Given the description of an element on the screen output the (x, y) to click on. 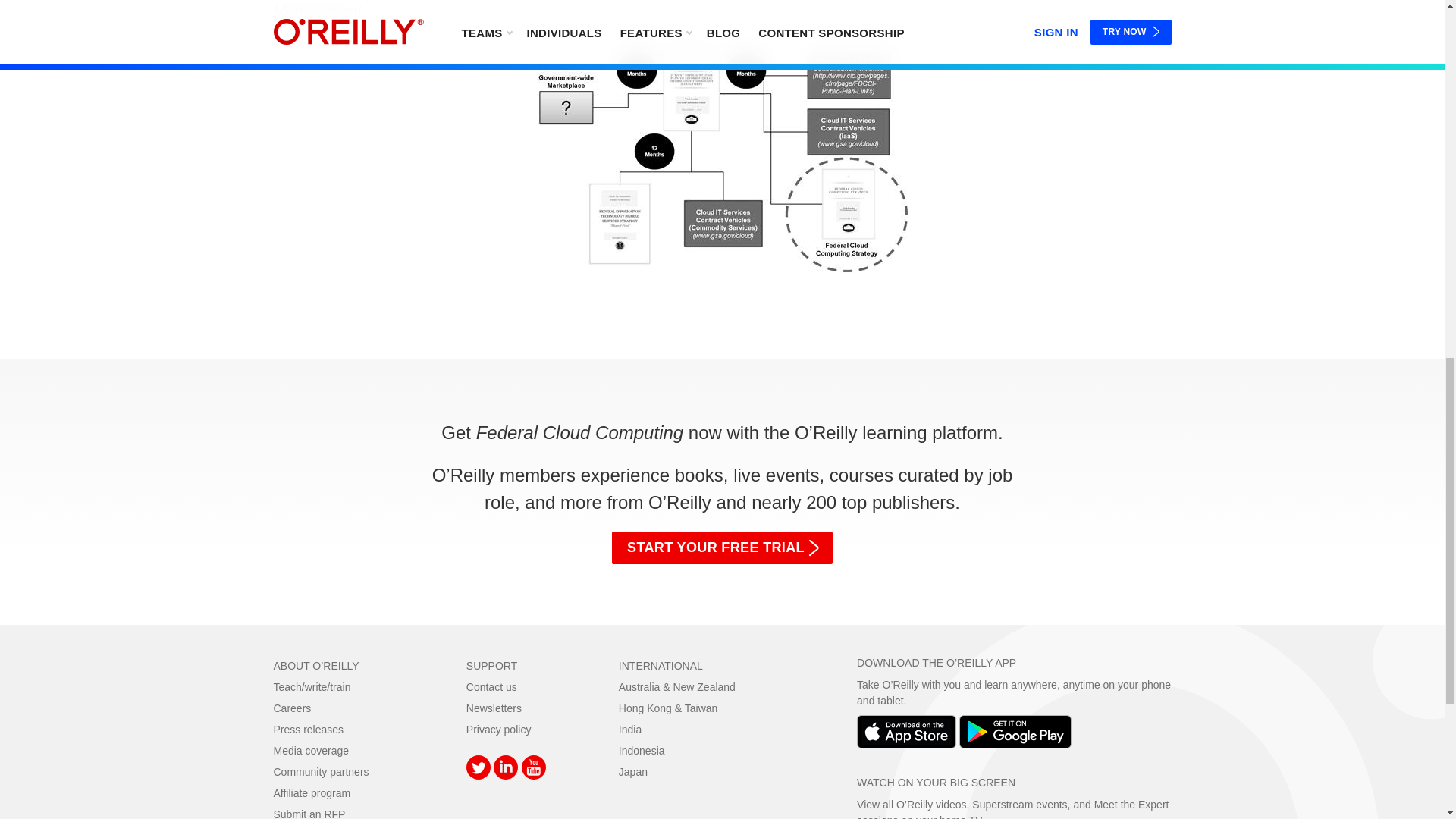
Newsletters (493, 707)
SUPPORT (490, 665)
START YOUR FREE TRIAL (721, 548)
Submit an RFP (309, 813)
Press releases (308, 729)
Contact us (490, 686)
Affiliate program (311, 793)
Careers (292, 707)
Media coverage (311, 750)
Community partners (320, 771)
